Given the description of an element on the screen output the (x, y) to click on. 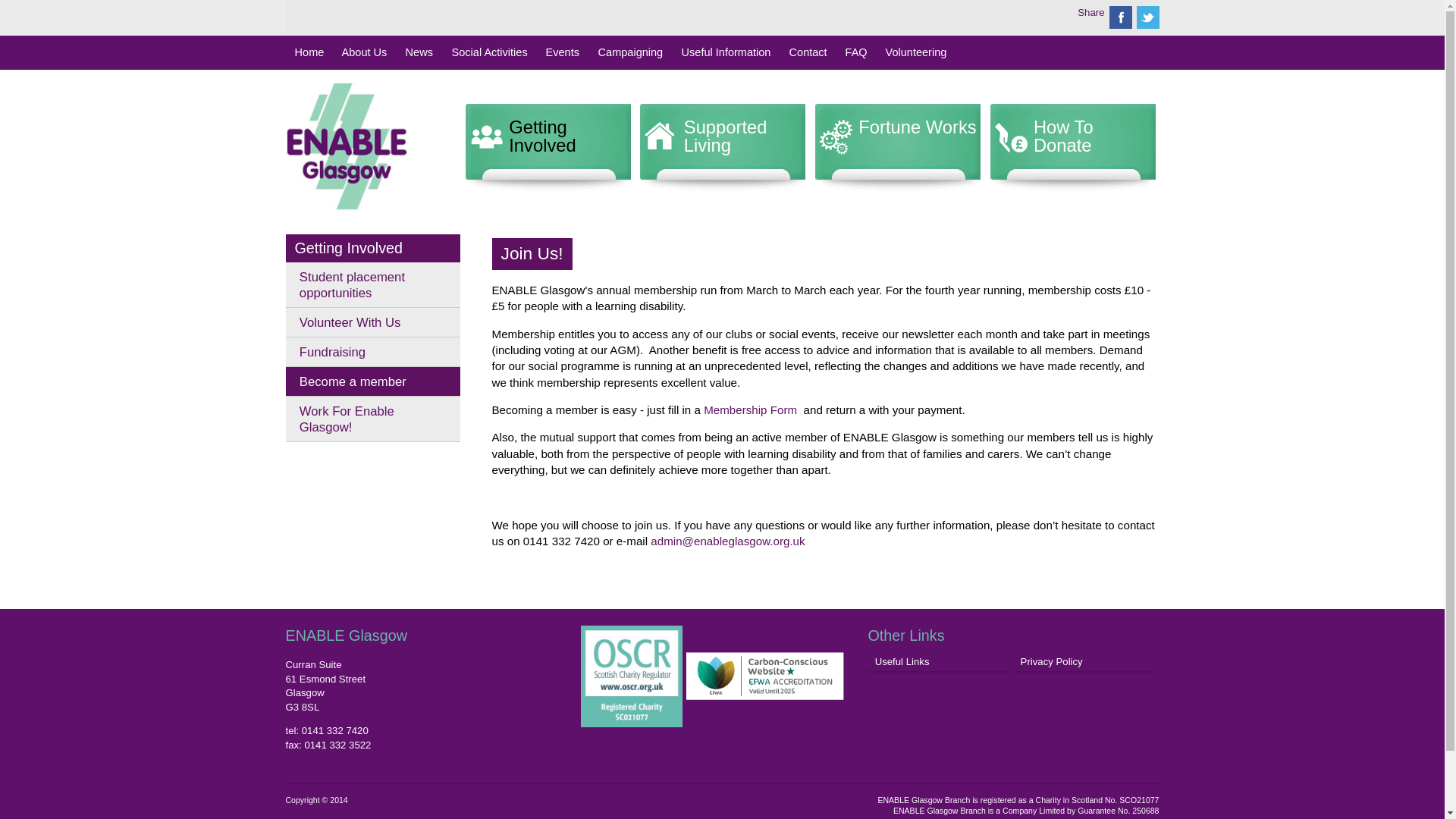
Privacy Policy (1081, 662)
Share (1090, 12)
Getting Involved (348, 247)
Social Activities (485, 52)
FAQ (852, 52)
About Us (361, 52)
Fortune Works (896, 148)
Useful Information (722, 52)
Contact (803, 52)
Membership Form (748, 409)
Student placement opportunities (372, 284)
Volunteer With Us (372, 322)
Fundraising (372, 351)
How To Donate (1072, 148)
Supported Living (722, 148)
